Given the description of an element on the screen output the (x, y) to click on. 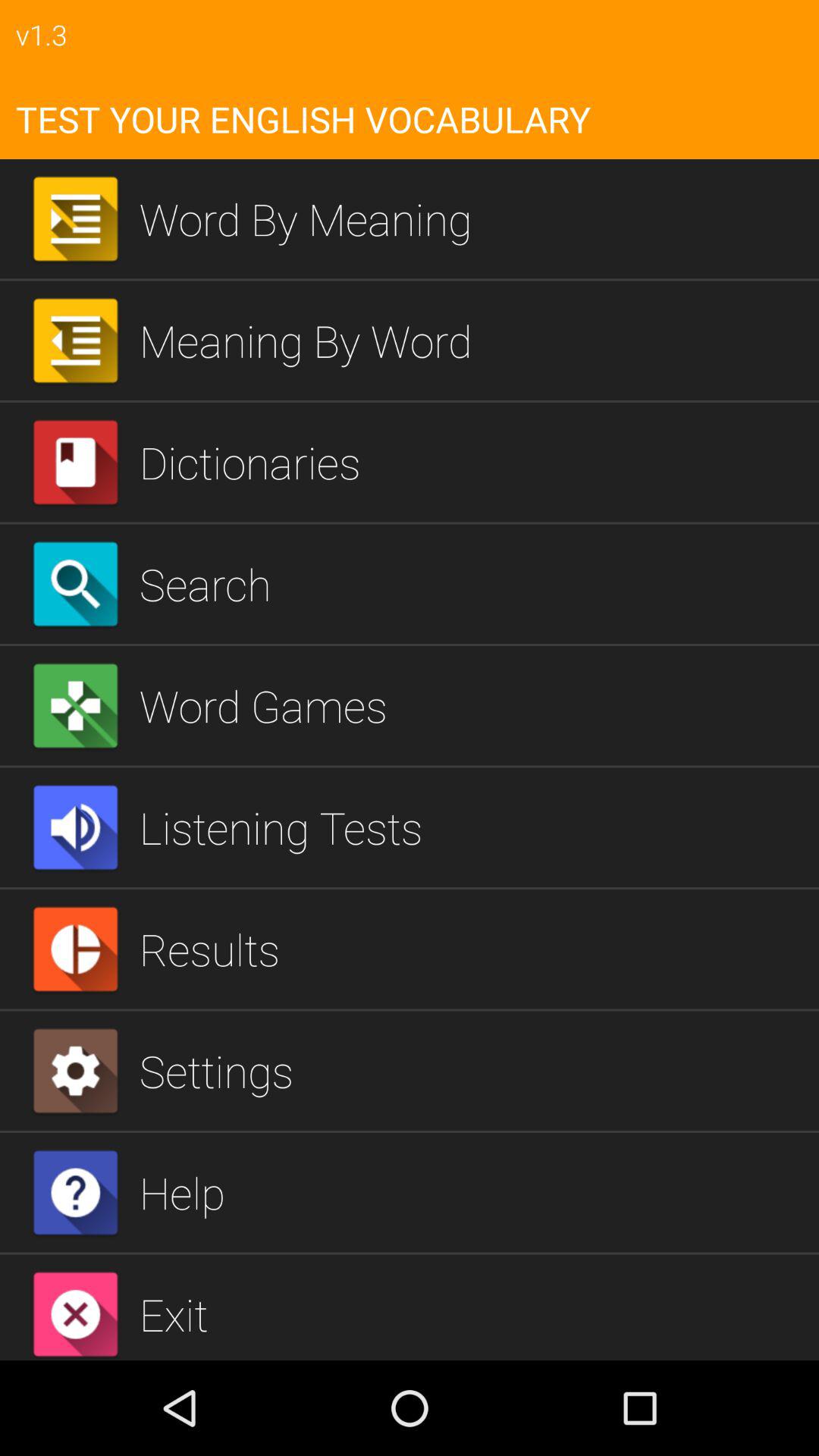
select the app below meaning by word (473, 462)
